Given the description of an element on the screen output the (x, y) to click on. 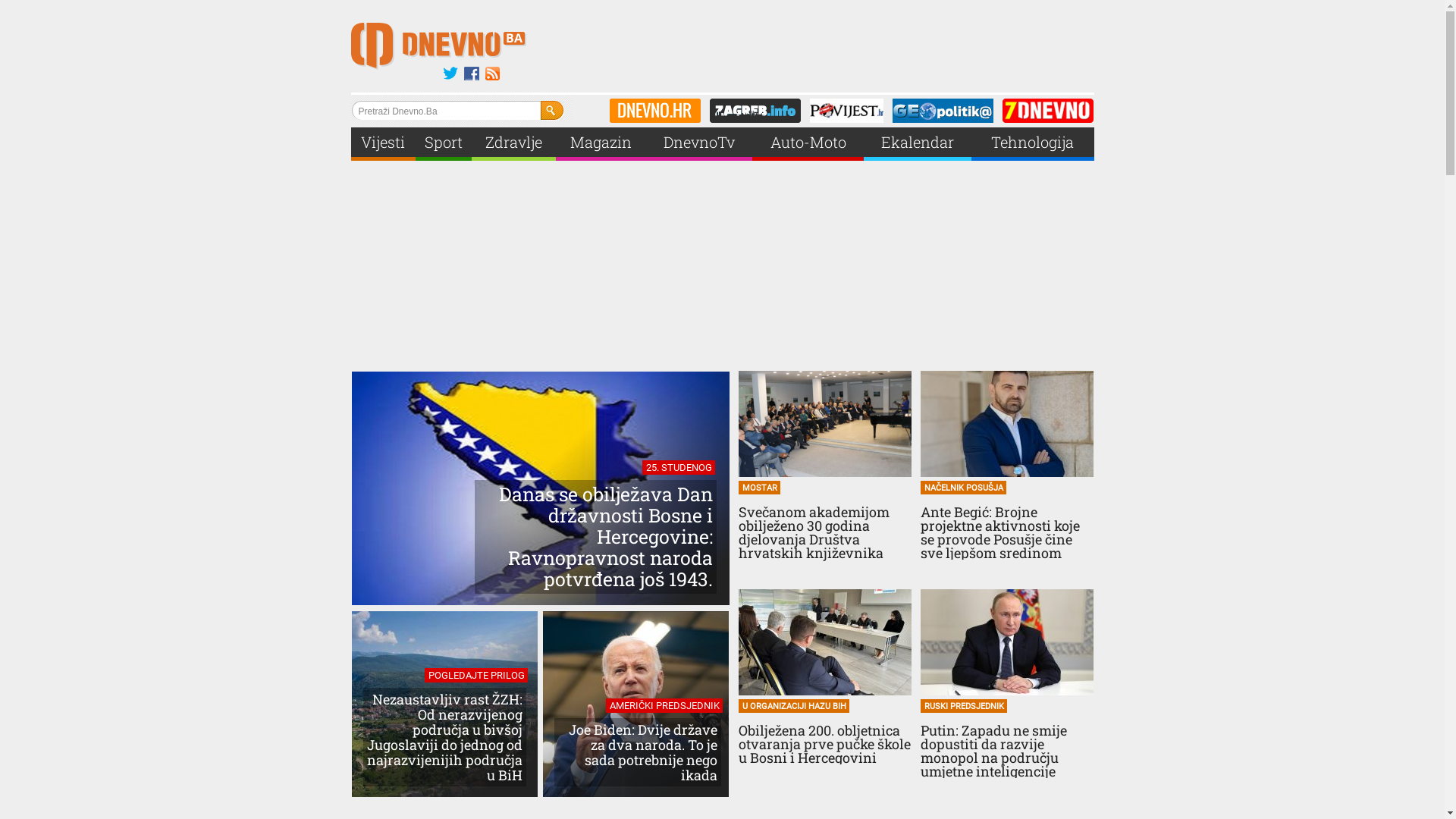
Zdravlje Element type: text (513, 141)
twitter Element type: text (450, 73)
submit Element type: text (551, 110)
Sport Element type: text (443, 141)
Auto-Moto Element type: text (808, 141)
Ekalendar Element type: text (917, 141)
U ORGANIZACIJI HAZU BIH Element type: text (793, 705)
facebook Element type: text (471, 73)
RUSKI PREDSJEDNIK Element type: text (963, 705)
MOSTAR Element type: text (759, 487)
DnevnoTv Element type: text (699, 141)
Magazin Element type: text (600, 141)
Vijesti Element type: text (382, 141)
rss Element type: text (492, 73)
Tehnologija Element type: text (1032, 141)
